Given the description of an element on the screen output the (x, y) to click on. 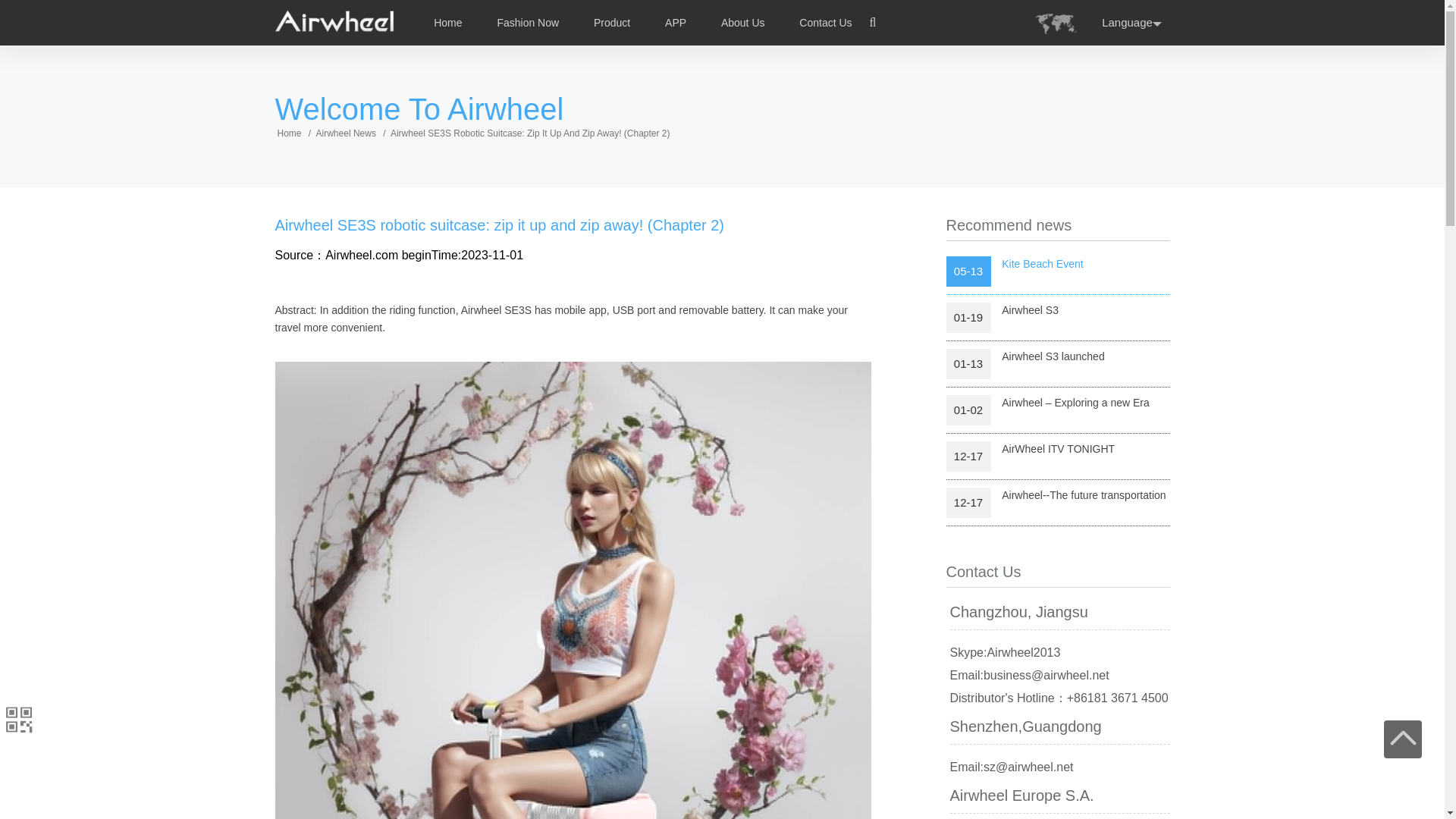
Product (612, 22)
Contact Us (825, 22)
Home (447, 22)
APP (675, 22)
